Given the description of an element on the screen output the (x, y) to click on. 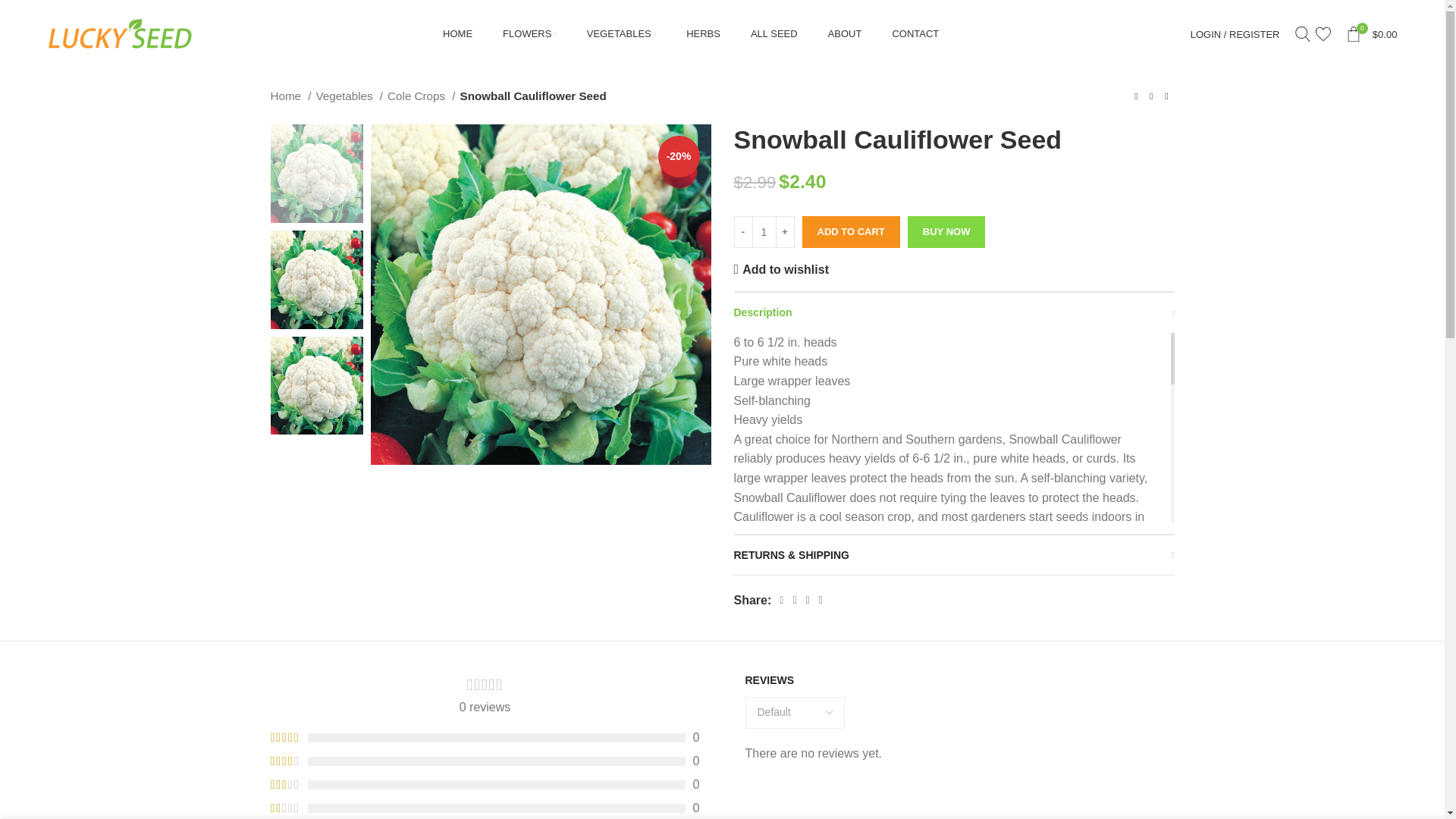
HOME (456, 33)
My account (1234, 33)
My Wishlist (1322, 33)
Shopping cart (1371, 33)
VEGETABLES (621, 33)
FLOWERS (529, 33)
Snowball Cauliflower Seed 1 (539, 294)
